Given the description of an element on the screen output the (x, y) to click on. 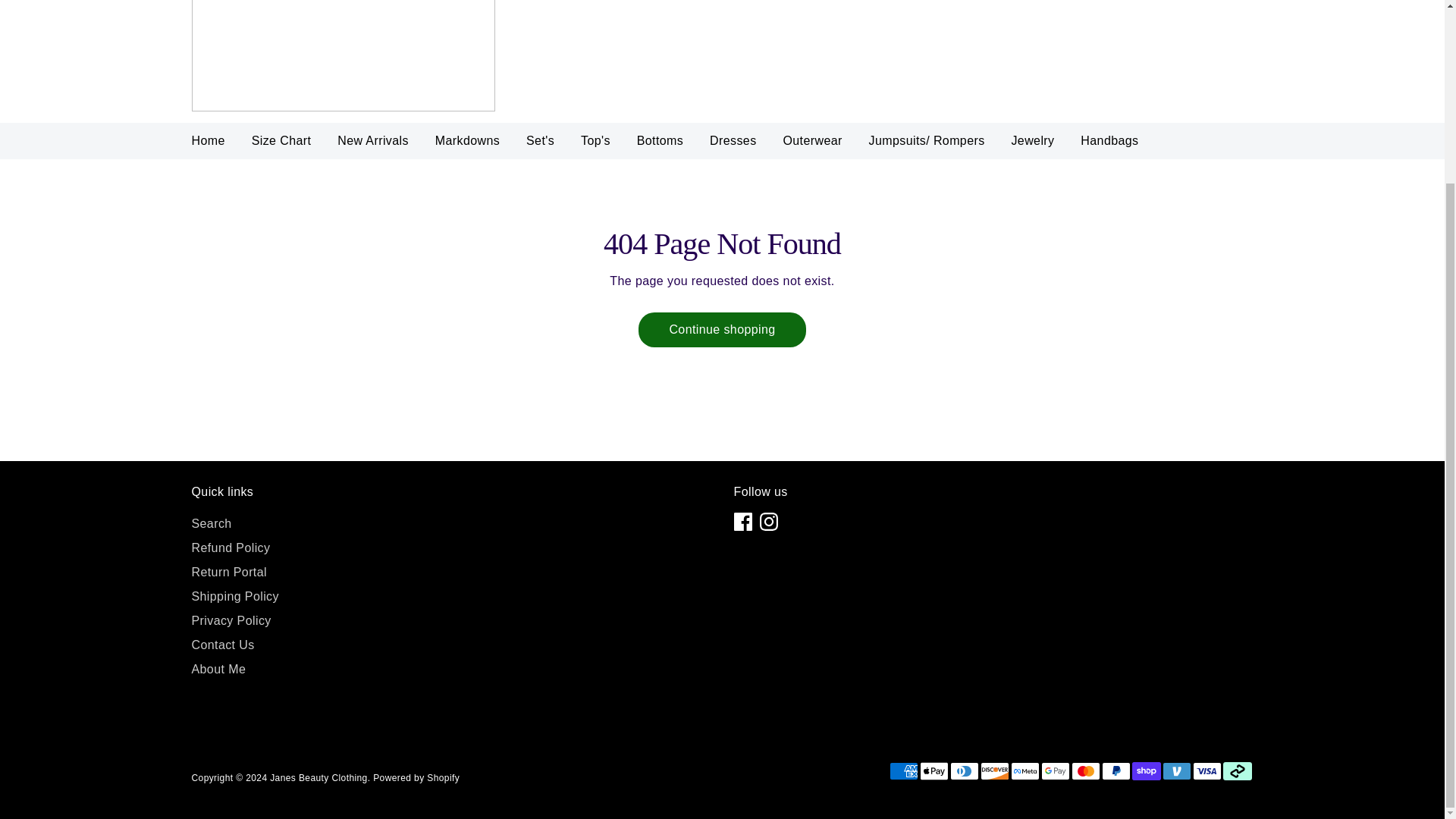
Venmo (1176, 771)
American Express (902, 771)
PayPal (1114, 771)
Markdowns (467, 144)
Size Chart (281, 144)
Bottoms (660, 144)
Set's (540, 144)
Home (207, 144)
Dresses (732, 144)
Visa (1206, 771)
